Given the description of an element on the screen output the (x, y) to click on. 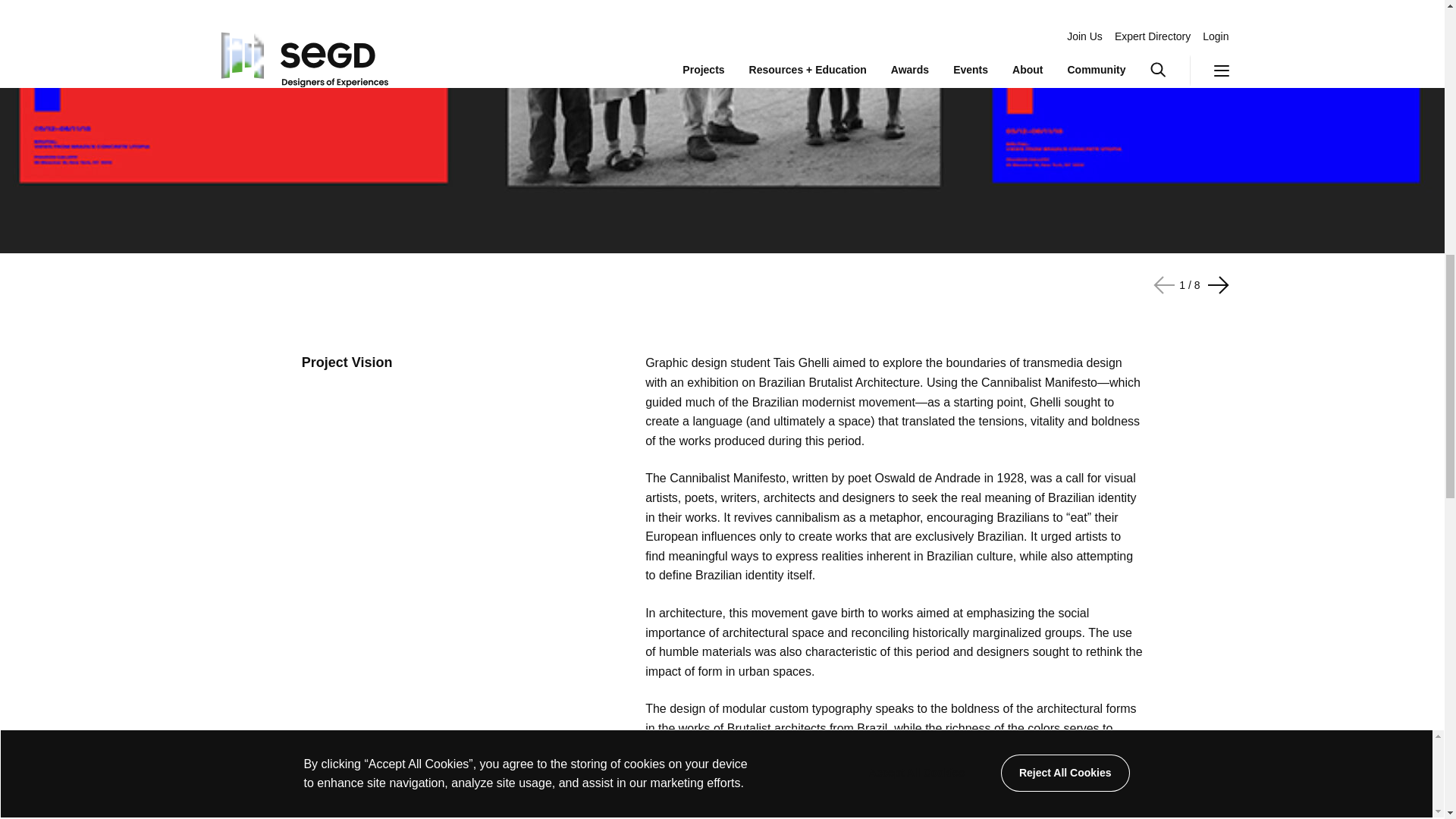
Previous slide (1215, 284)
Next slide (1166, 284)
